Given the description of an element on the screen output the (x, y) to click on. 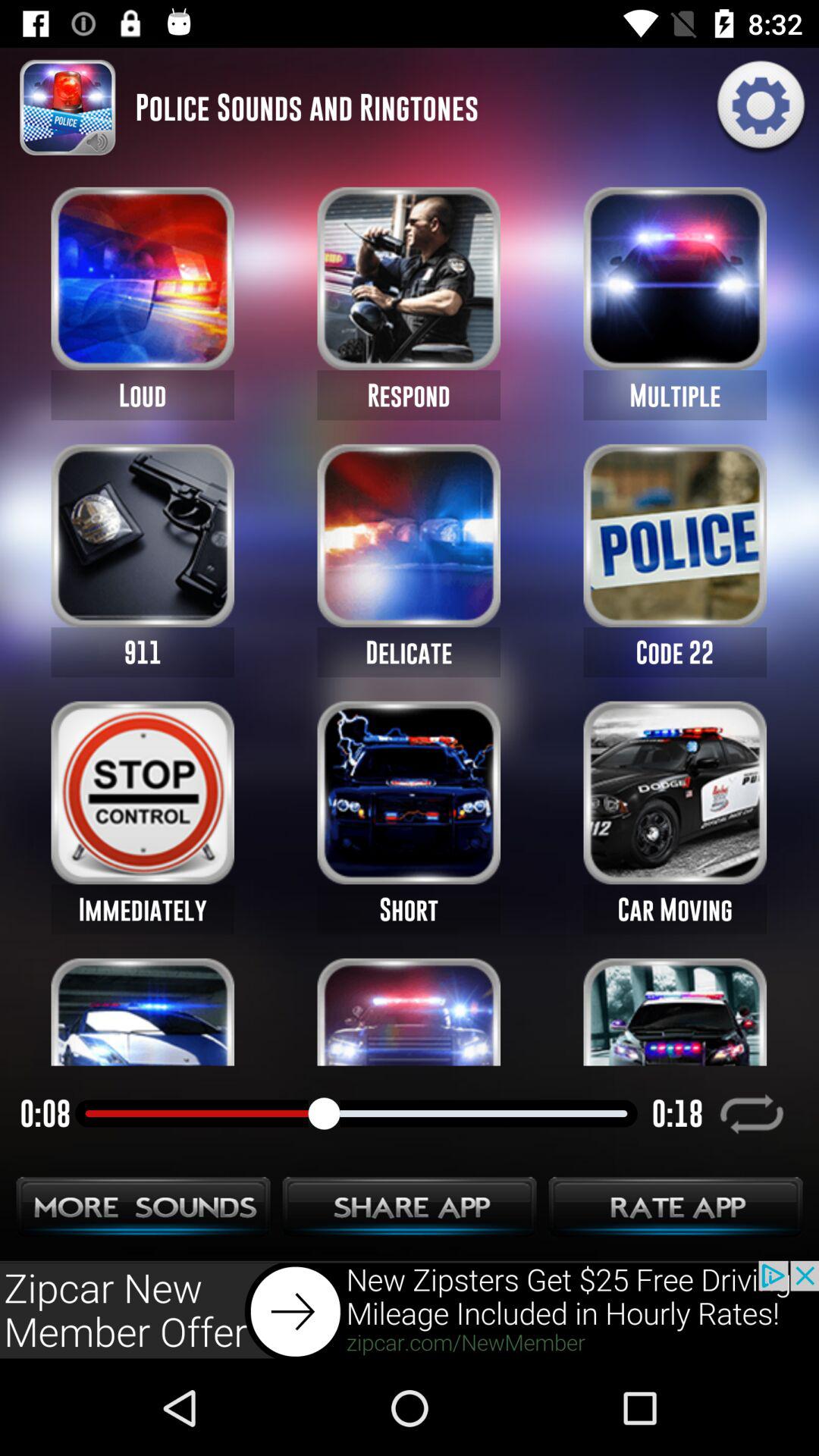
adventisment page (409, 1310)
